Given the description of an element on the screen output the (x, y) to click on. 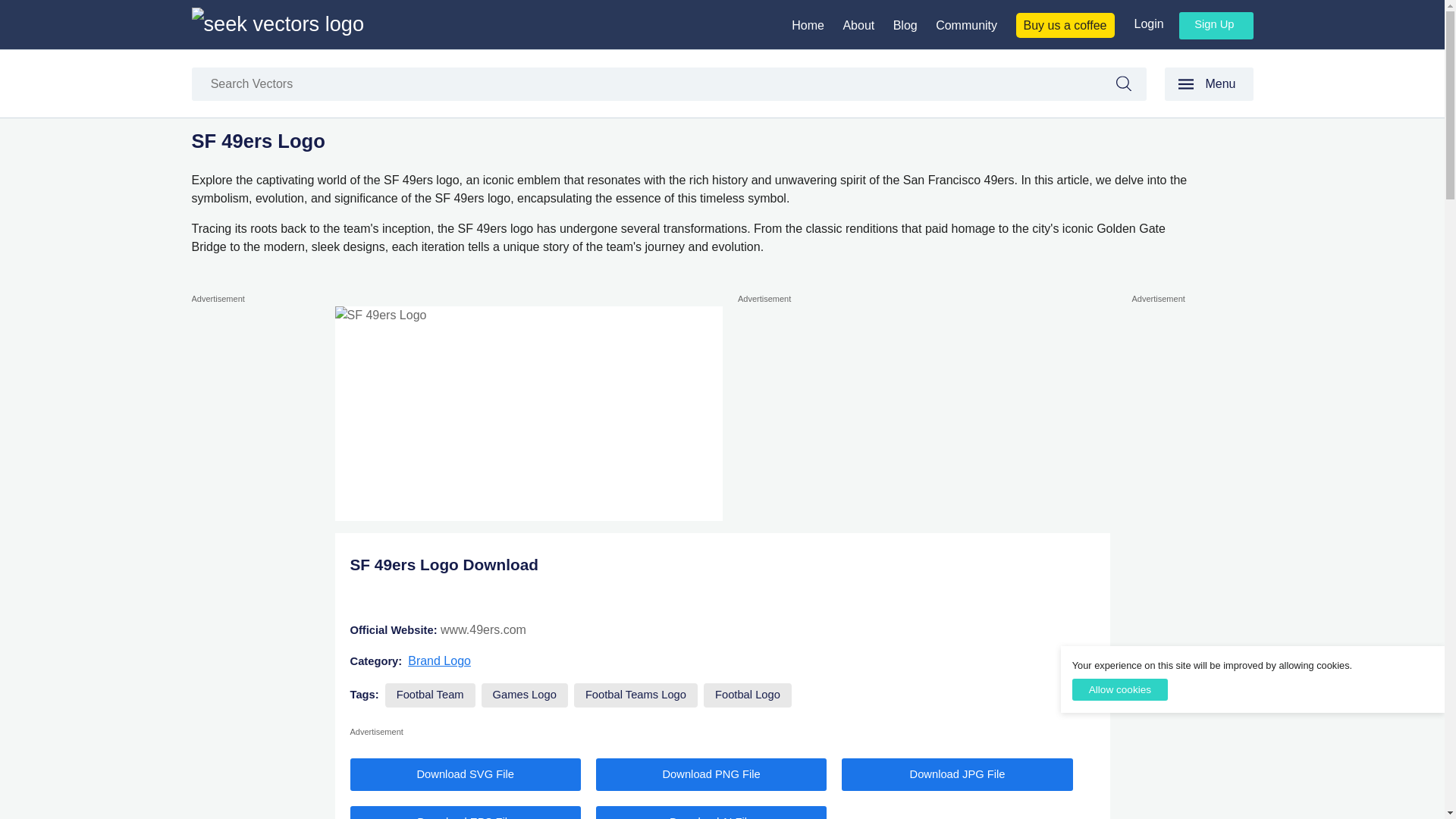
Download SF 49ers Logo in AI File format (711, 812)
Download SF 49ers Logo in PNG format (711, 774)
Download SF 49ers Logo in JPG format (956, 774)
Home (808, 24)
Sign Up (1215, 26)
Login (1148, 23)
Download SF 49ers Logo in SVG format (465, 774)
SF 49ers Logo (528, 413)
Blog (905, 24)
Community (966, 24)
Download SF 49ers Logo in EPS File format (465, 812)
SEARCH (1131, 86)
Buy us a coffee (1065, 25)
About (859, 24)
